Given the description of an element on the screen output the (x, y) to click on. 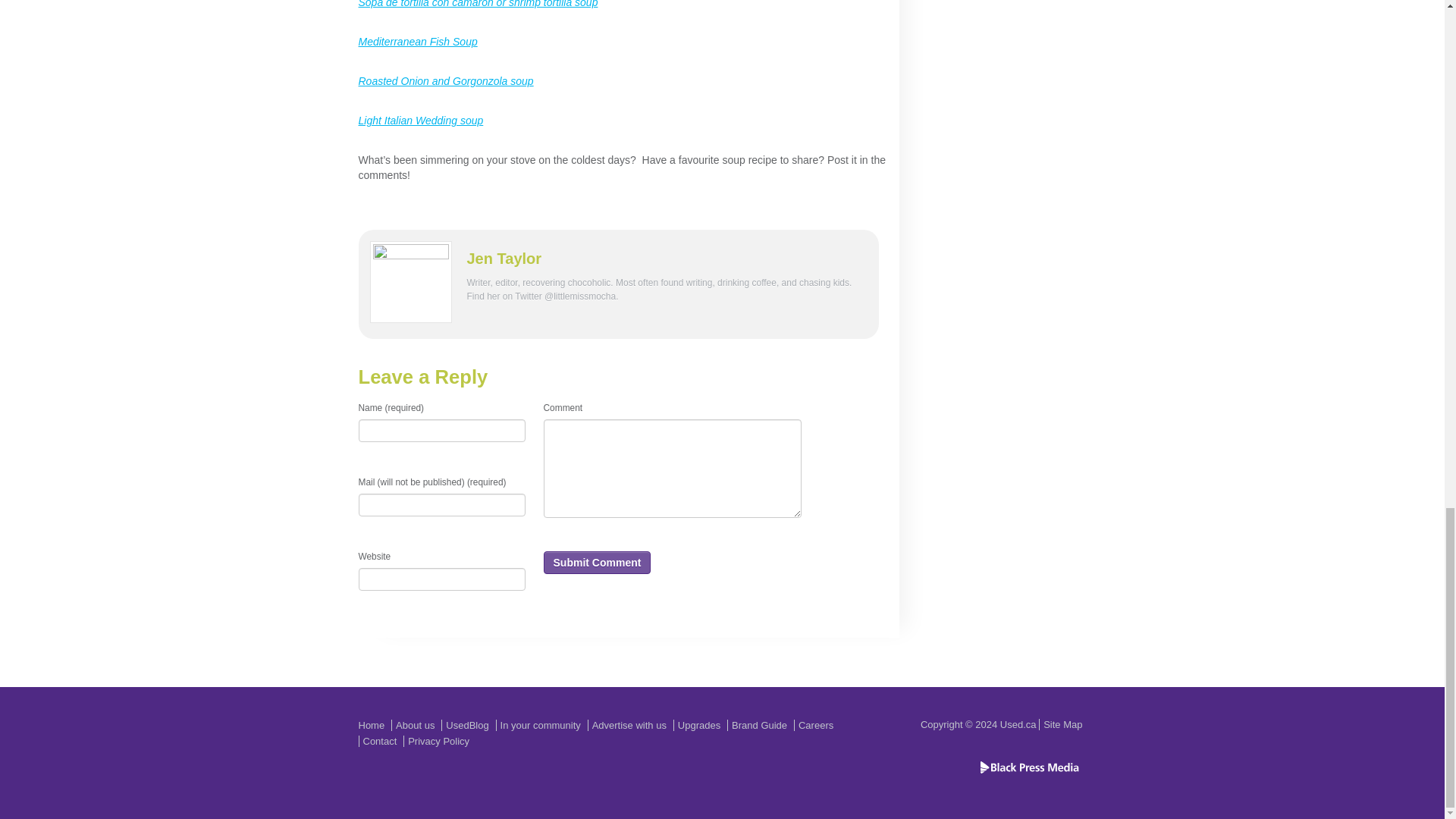
Posts by Jen Taylor (504, 258)
Submit Comment (596, 562)
